Given the description of an element on the screen output the (x, y) to click on. 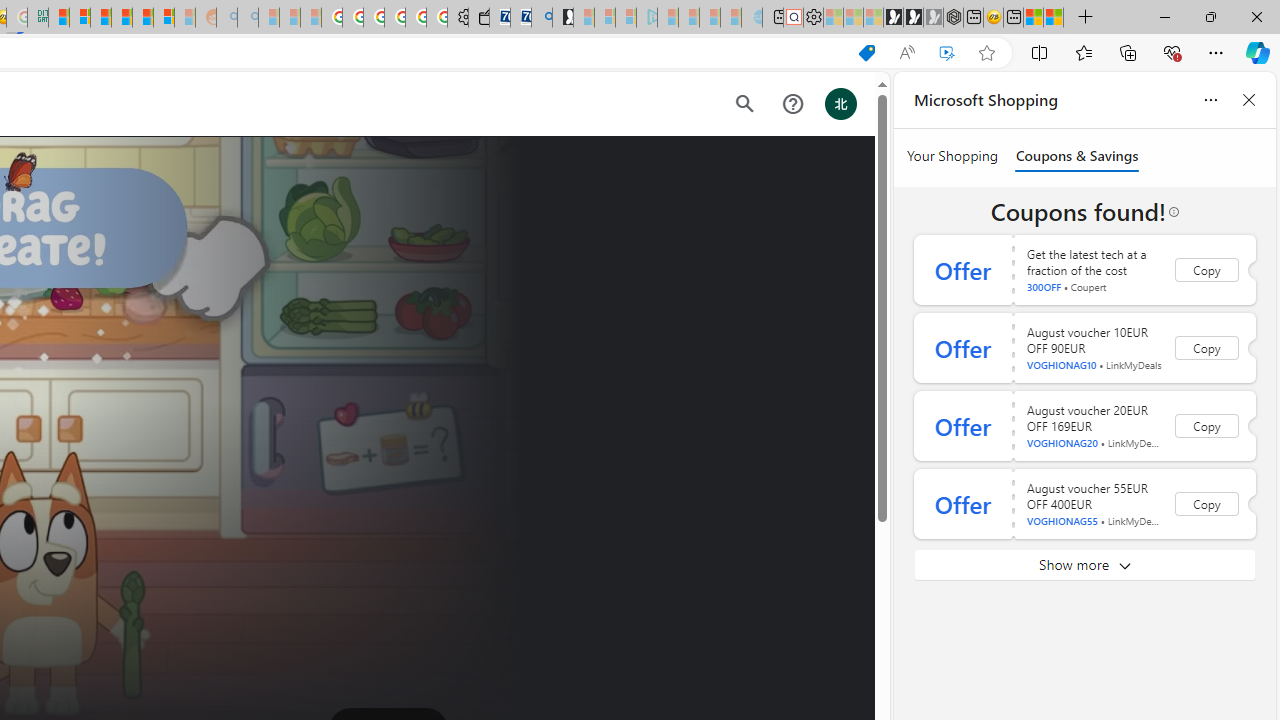
MSNBC - MSN (58, 17)
Kinda Frugal - MSN (143, 17)
Home | Sky Blue Bikes - Sky Blue Bikes - Sleeping (751, 17)
Enhance video (946, 53)
Wildlife - MSN (1033, 17)
